Given the description of an element on the screen output the (x, y) to click on. 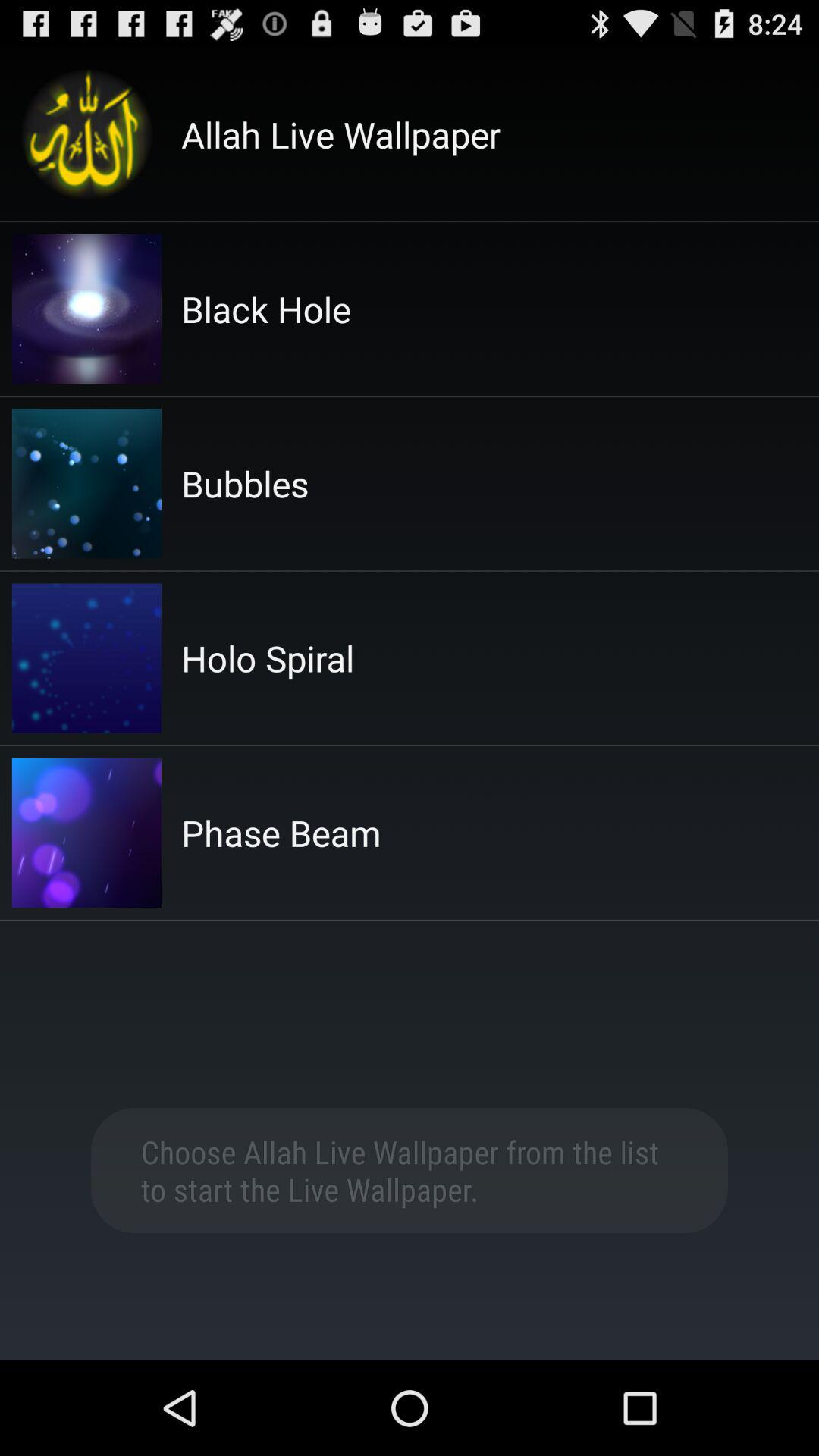
tap app above bubbles (265, 308)
